Given the description of an element on the screen output the (x, y) to click on. 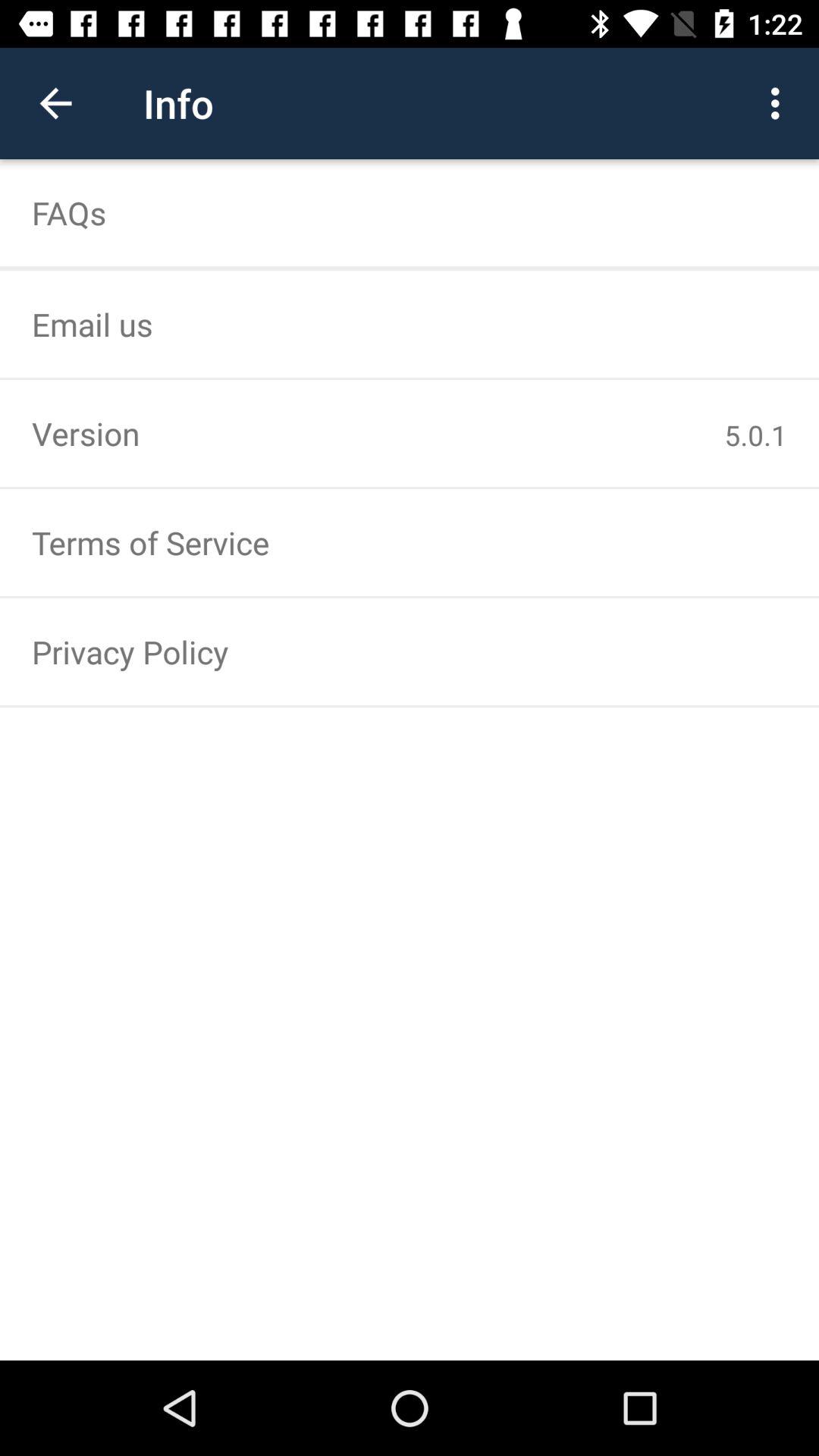
click the privacy policy item (409, 651)
